Given the description of an element on the screen output the (x, y) to click on. 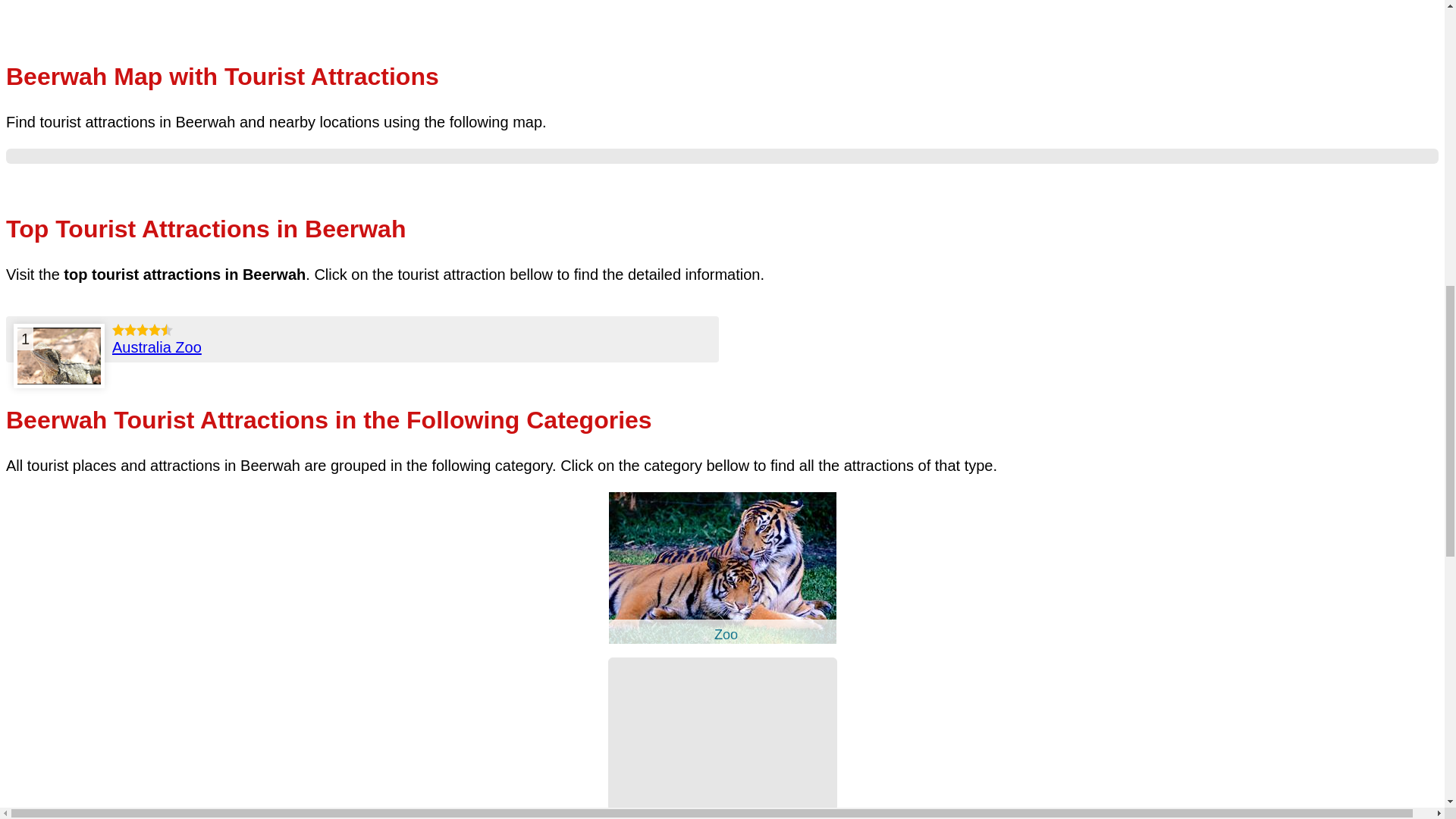
Australia Zoo (157, 347)
Australia Zoo (58, 356)
Zoo (721, 638)
Zoo (721, 567)
